Given the description of an element on the screen output the (x, y) to click on. 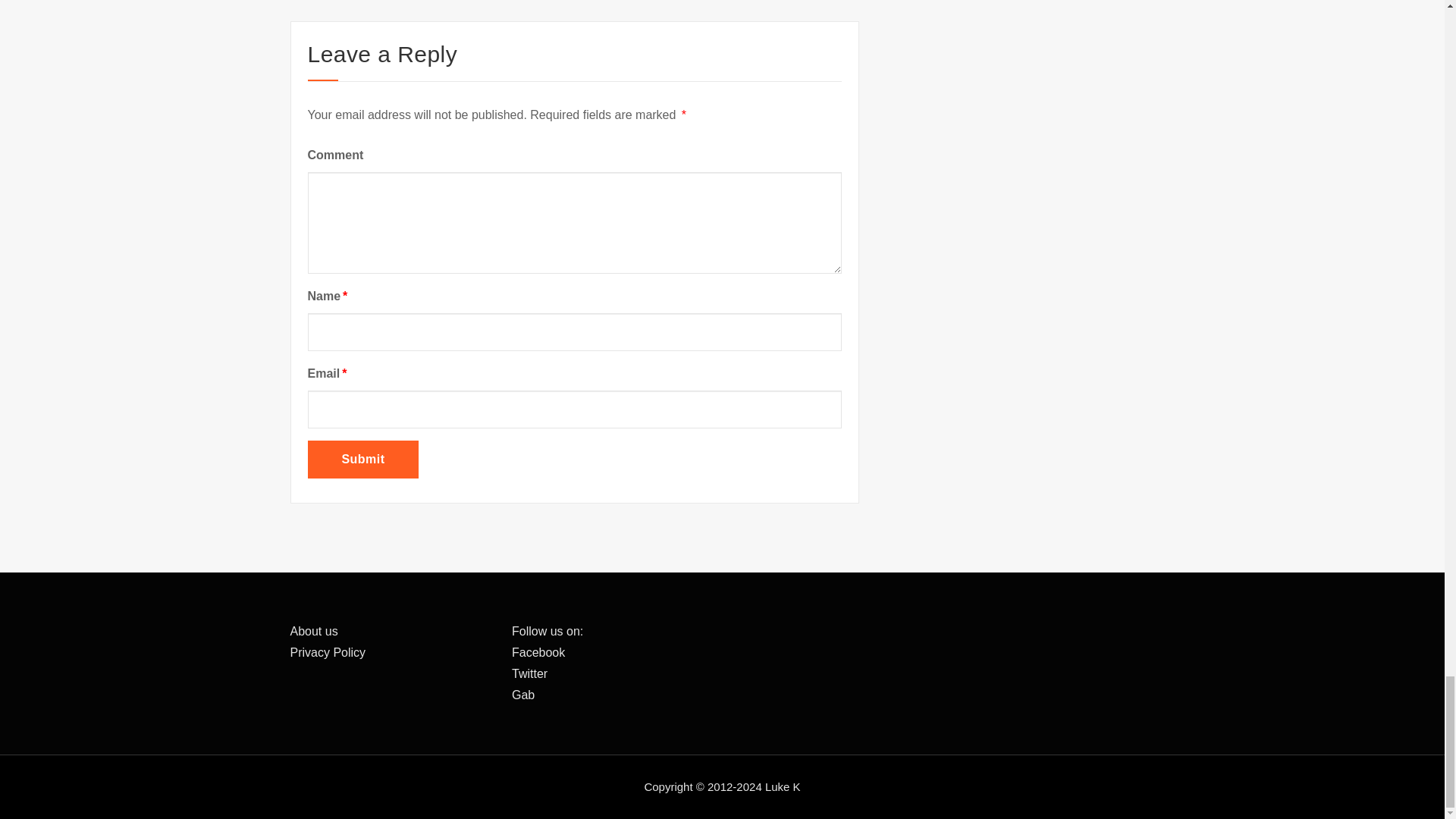
Submit (363, 459)
About us (313, 631)
Privacy Policy (327, 652)
Gab (523, 694)
Gab (523, 694)
Twitter (529, 673)
Facebook (538, 652)
Submit (363, 459)
Facebook (538, 652)
Twitter (529, 673)
